Given the description of an element on the screen output the (x, y) to click on. 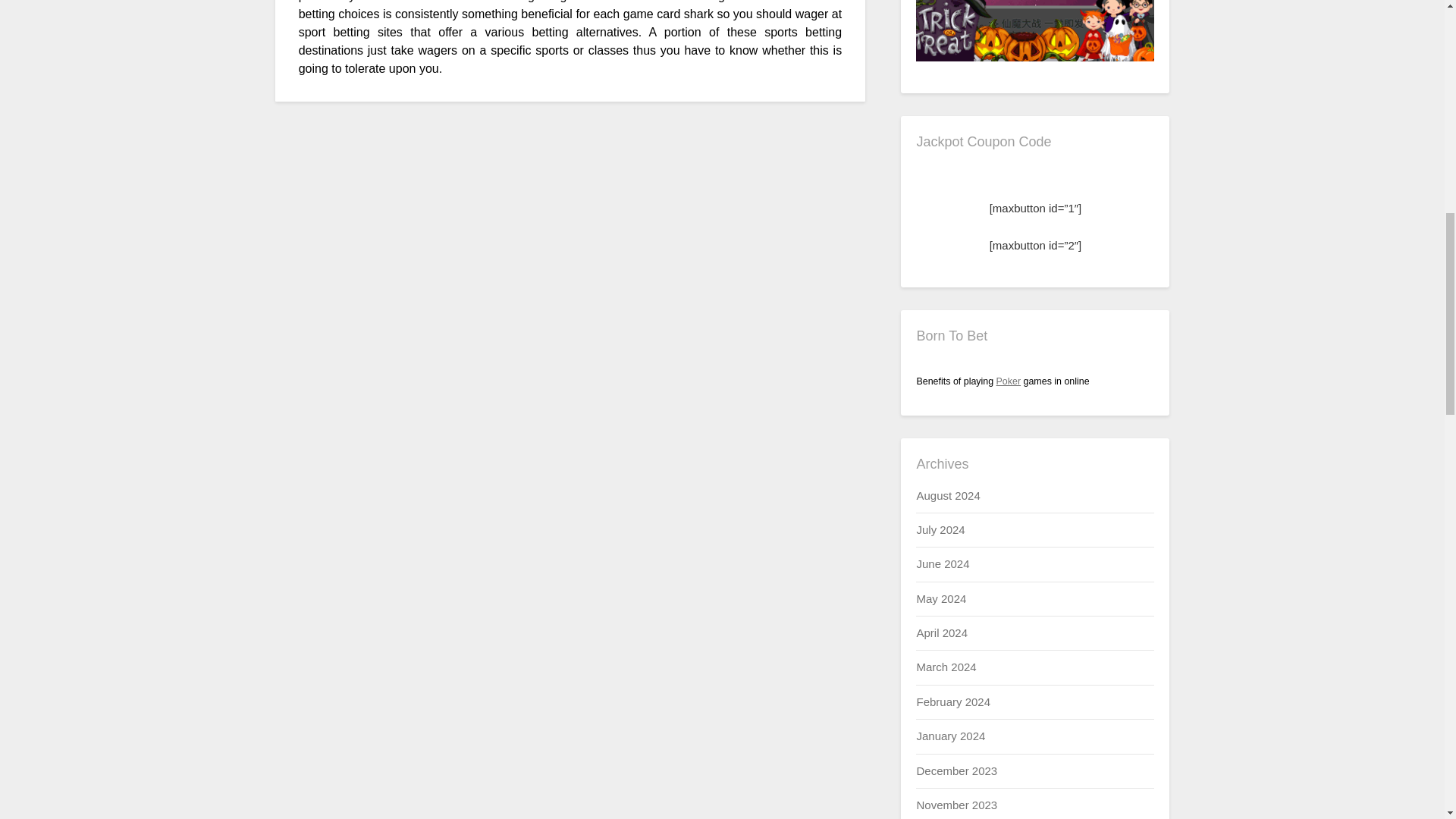
December 2023 (956, 770)
November 2023 (956, 804)
August 2024 (947, 495)
June 2024 (942, 563)
July 2024 (939, 529)
January 2024 (950, 735)
Poker (1008, 380)
May 2024 (940, 598)
February 2024 (952, 701)
April 2024 (941, 632)
